Given the description of an element on the screen output the (x, y) to click on. 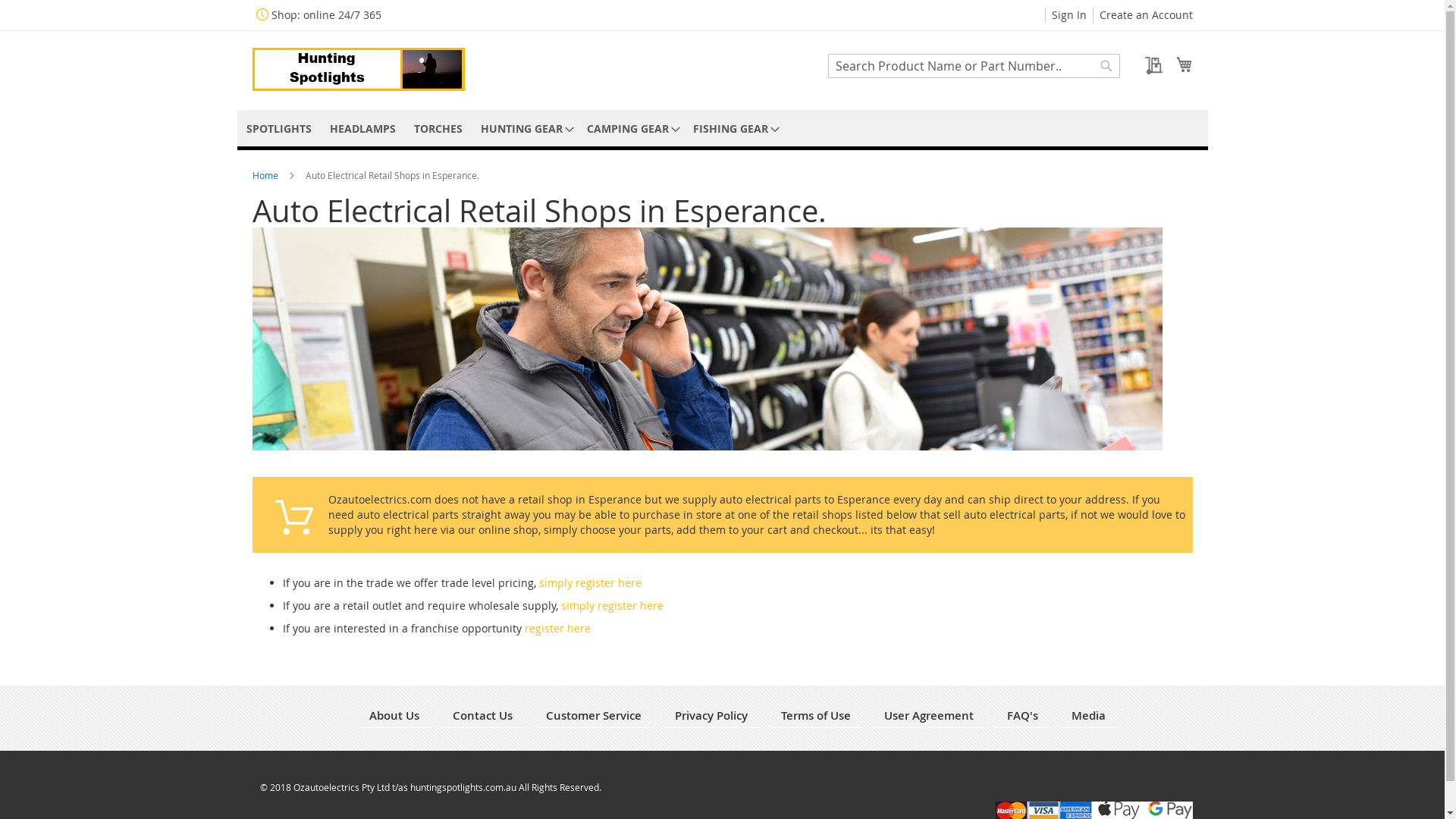
Auto Electrical Retail Shops in Esperance Element type: hover (706, 338)
My Quote Element type: text (1147, 64)
simply register here Element type: text (589, 582)
simply register here Element type: text (612, 605)
CAMPING GEAR Element type: text (630, 128)
HUNTING GEAR Element type: text (524, 128)
FISHING GEAR Element type: text (733, 128)
My Cart Element type: text (1183, 64)
Sign In Element type: text (1068, 14)
HEADLAMPS Element type: text (362, 128)
Home Element type: text (265, 175)
Hunting Spotlights Supplied Worldwide Element type: hover (357, 69)
Search Element type: text (1105, 65)
Customer Service Element type: text (593, 716)
Privacy Policy Element type: text (711, 716)
FAQ's Element type: text (1022, 716)
About Us Element type: text (393, 716)
Contact Us Element type: text (482, 716)
Skip to Content Element type: text (380, 6)
User Agreement Element type: text (928, 716)
Terms of Use Element type: text (815, 716)
Create an Account Element type: text (1145, 14)
TORCHES Element type: text (437, 128)
SPOTLIGHTS Element type: text (278, 128)
register here Element type: text (557, 628)
Media Element type: text (1088, 716)
